Given the description of an element on the screen output the (x, y) to click on. 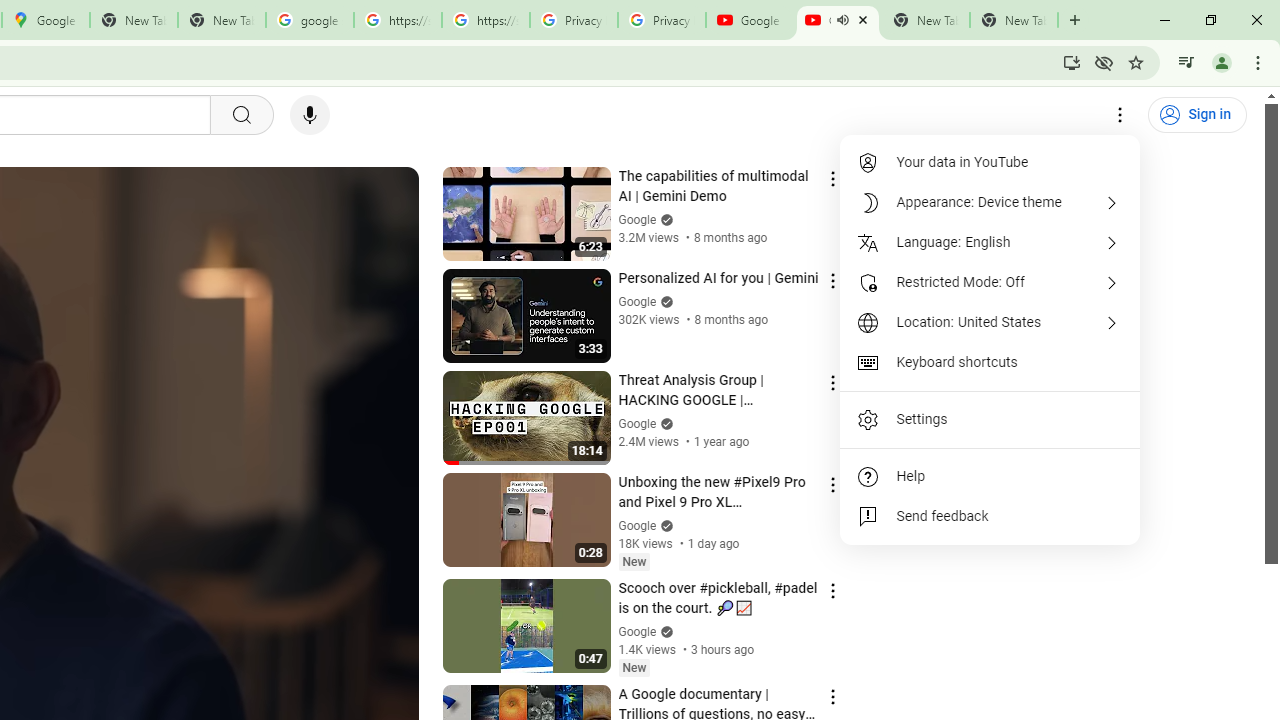
New (634, 667)
Google - YouTube (749, 20)
Keyboard shortcuts (989, 362)
Search with your voice (309, 115)
Language: English (989, 242)
Verified (664, 631)
Action menu (832, 696)
Your data in YouTube (989, 162)
